Given the description of an element on the screen output the (x, y) to click on. 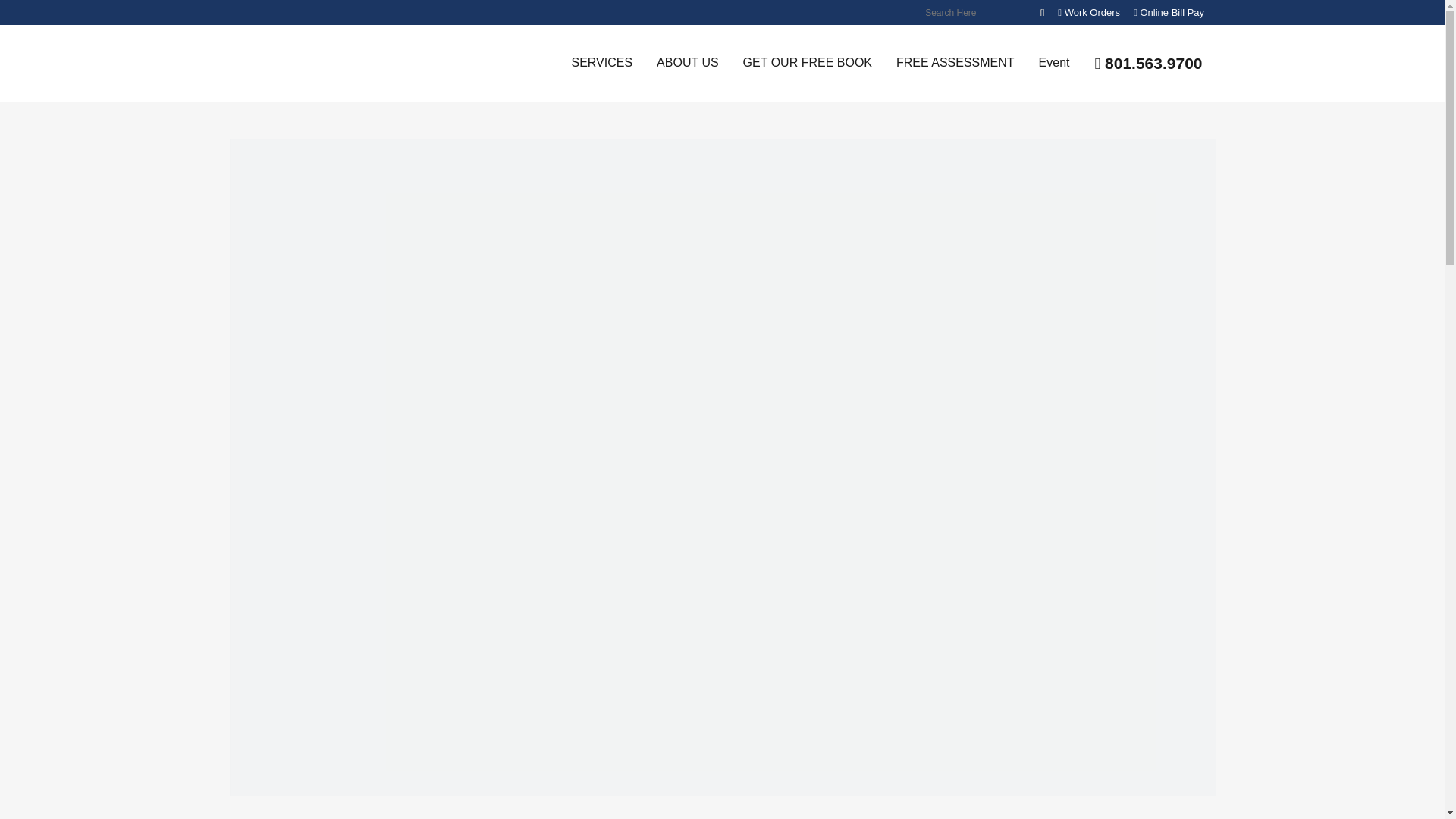
Online Bill Pay (1169, 12)
Work Orders (1088, 12)
ABOUT US (687, 62)
SERVICES (602, 62)
801.563.9700 (1148, 63)
